Given the description of an element on the screen output the (x, y) to click on. 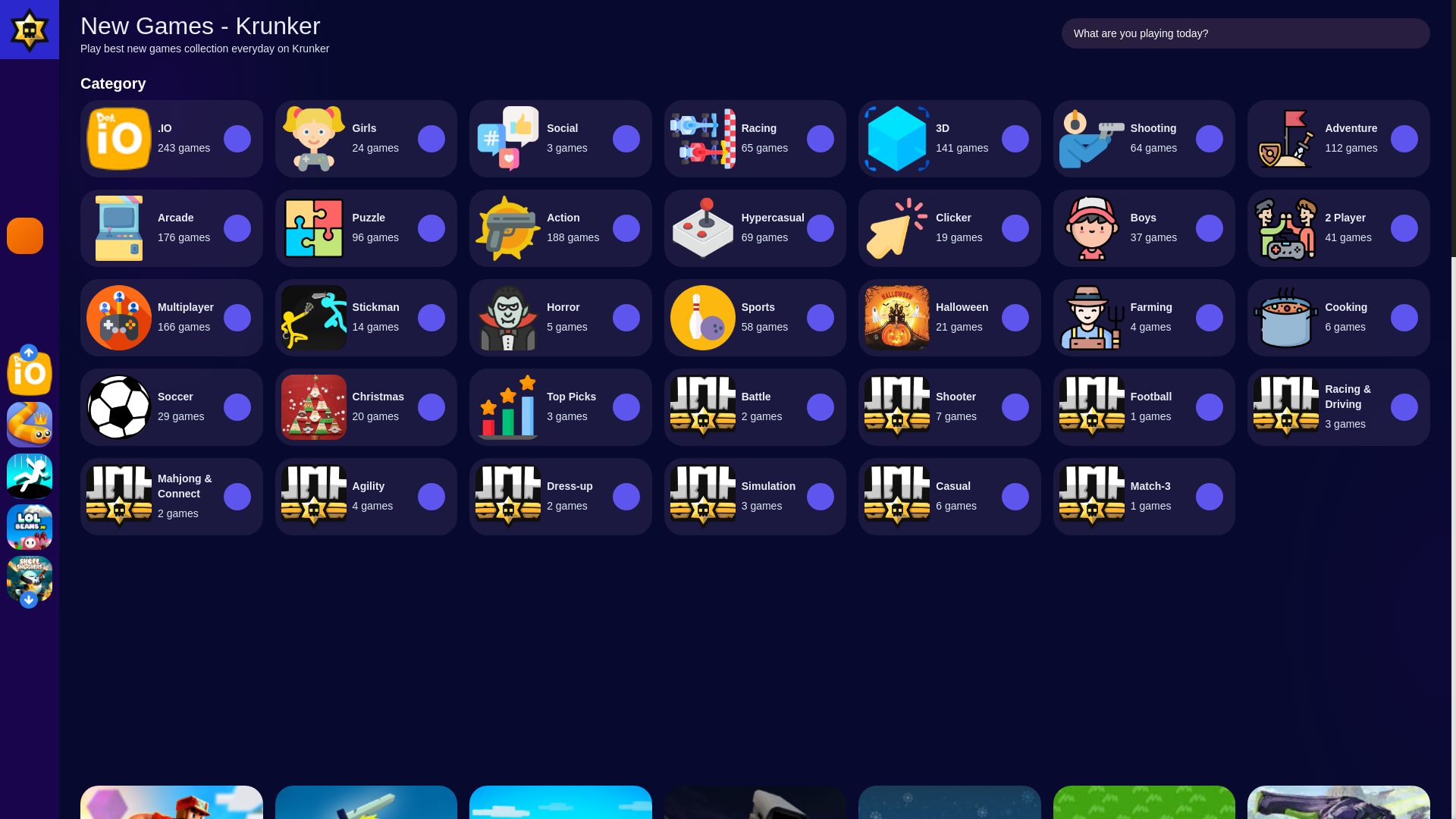
Snake.io (29, 424)
.IO (164, 128)
Social (562, 128)
LOLBeans.io (29, 526)
IO Games (29, 373)
Racing (759, 128)
Hole.io (29, 475)
Shell Shockers (29, 578)
Girls (364, 128)
